Given the description of an element on the screen output the (x, y) to click on. 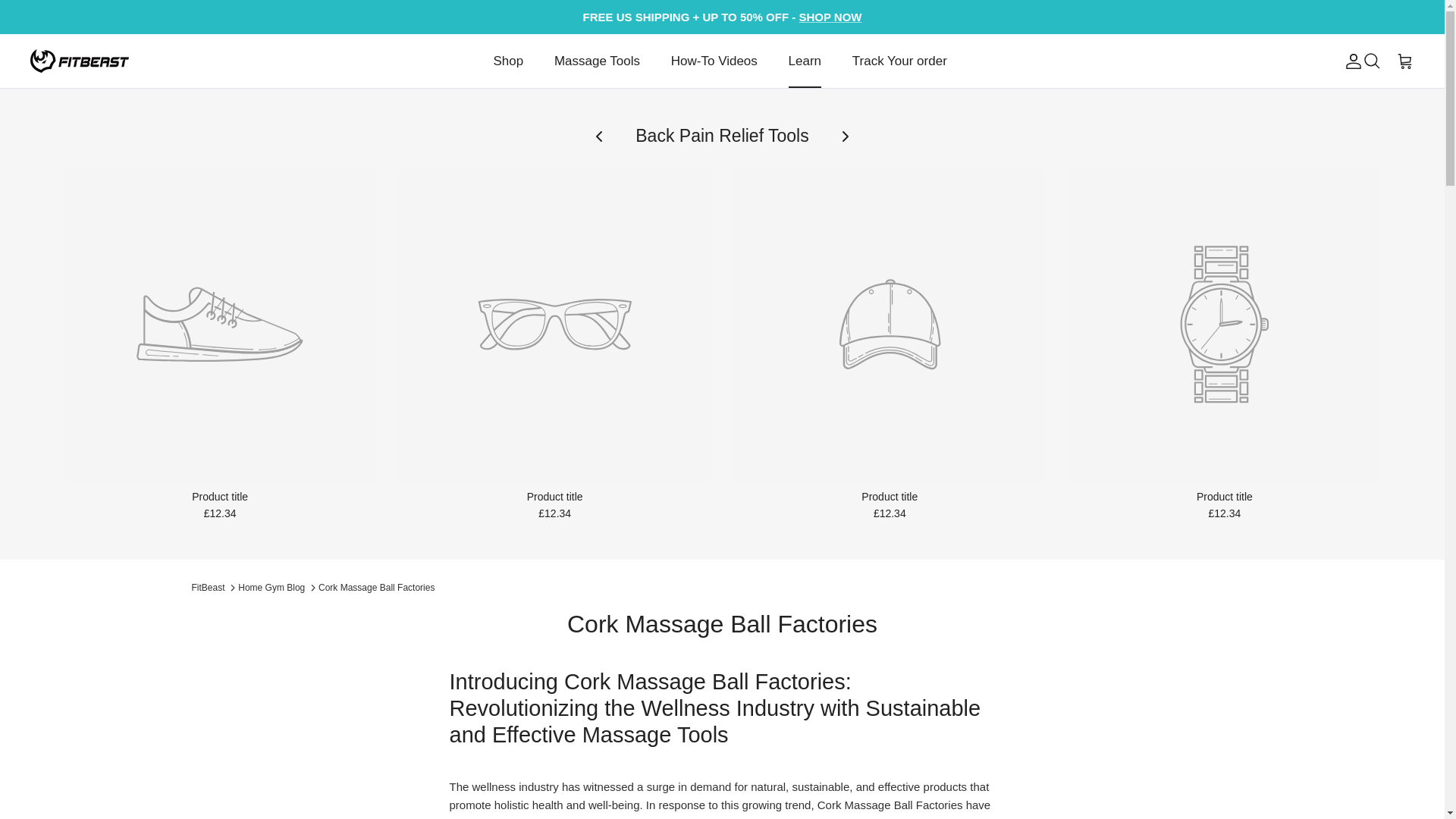
SHOP NOW (829, 16)
FitBeast (79, 60)
Learn (804, 61)
How-To Videos (714, 61)
Shop (508, 61)
Search (1371, 61)
Track Your order (899, 61)
The Biggest Discount  of The Year (829, 16)
Massage Tools (596, 61)
